Given the description of an element on the screen output the (x, y) to click on. 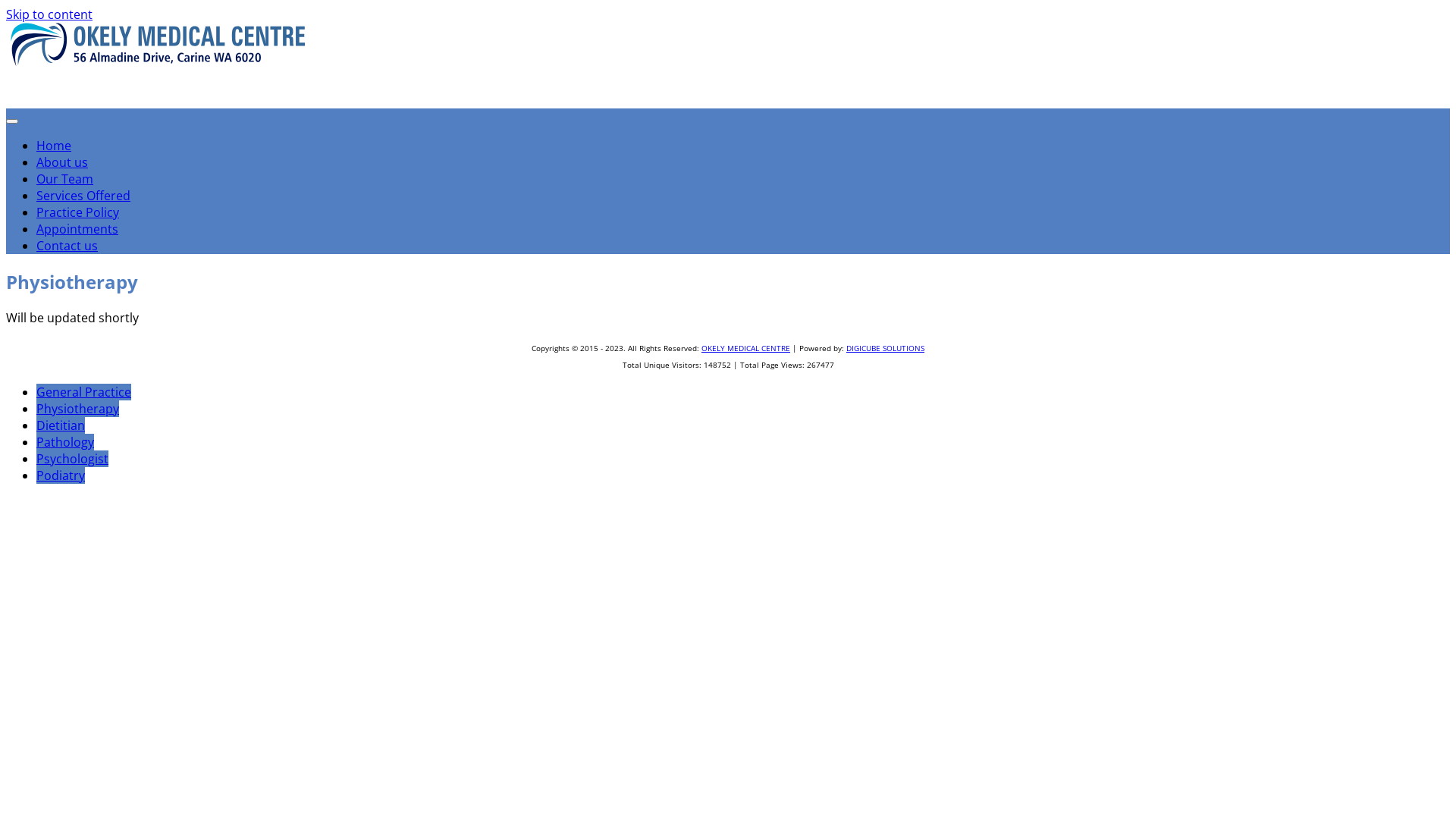
Pathology Element type: text (65, 441)
Services Offered Element type: text (83, 195)
General Practice Element type: text (83, 391)
About us Element type: text (61, 161)
Psychologist Element type: text (72, 458)
Dietitian Element type: text (60, 425)
OKELY MEDICAL CENTRE Element type: text (745, 347)
Our Team Element type: text (64, 178)
DIGICUBE SOLUTIONS Element type: text (885, 347)
OKELY MEDICAL CENTRE Element type: text (151, 107)
Podiatry Element type: text (60, 475)
Contact us Element type: text (66, 245)
Home Element type: text (53, 145)
Skip to content Element type: text (49, 14)
Practice Policy Element type: text (77, 211)
Physiotherapy Element type: text (77, 408)
Appointments Element type: text (77, 228)
